Given the description of an element on the screen output the (x, y) to click on. 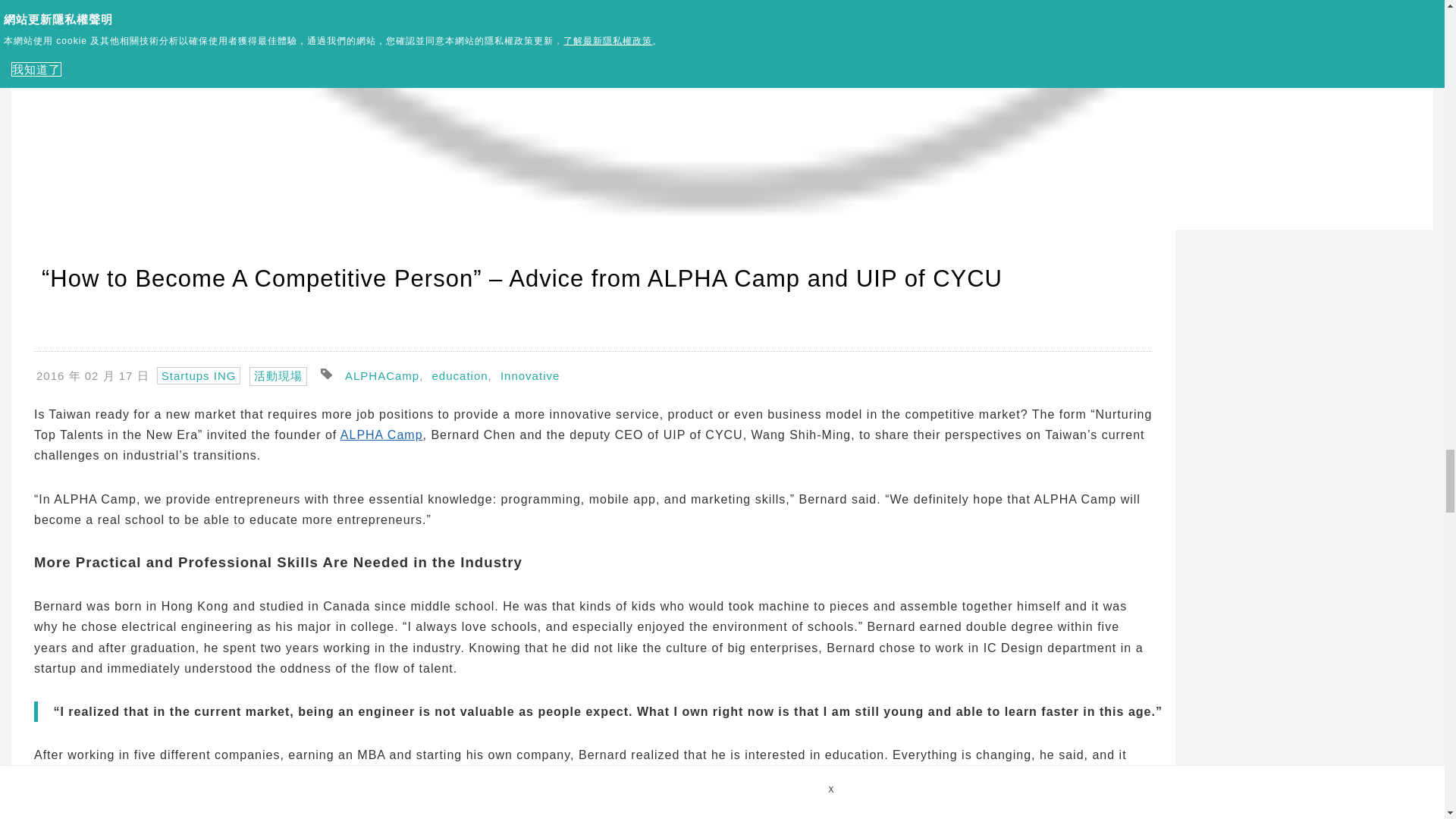
Startups ING (199, 375)
